Given the description of an element on the screen output the (x, y) to click on. 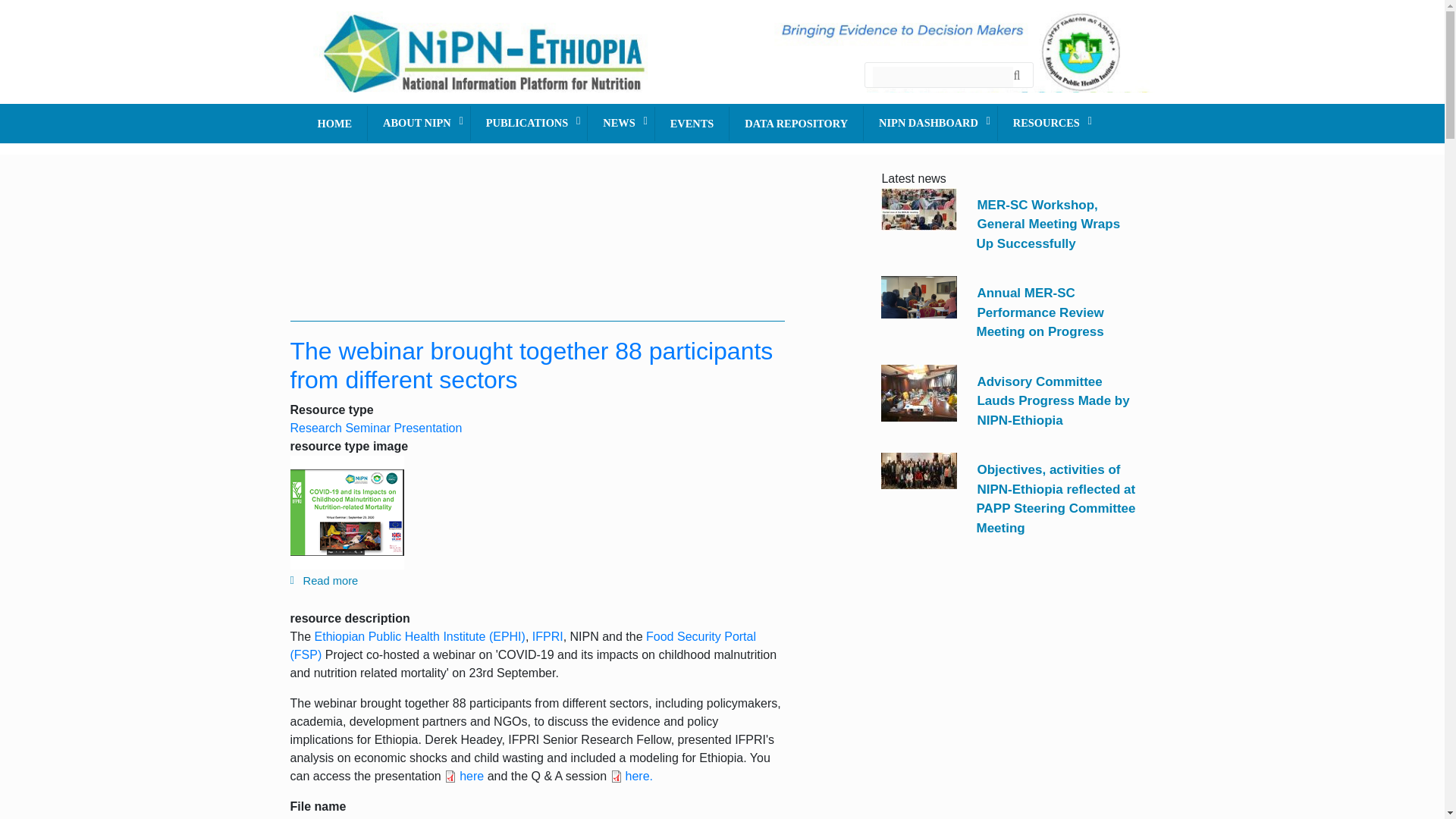
HOME (333, 123)
IFPRI (547, 635)
ABOUT NIPN (419, 123)
DATA REPOSITORY (796, 123)
Enter the terms you wish to search for. (941, 76)
EVENTS (692, 123)
Search (1019, 72)
here (463, 776)
RESOURCES (1048, 123)
Research Seminar Presentation (375, 427)
Search (1019, 72)
